Given the description of an element on the screen output the (x, y) to click on. 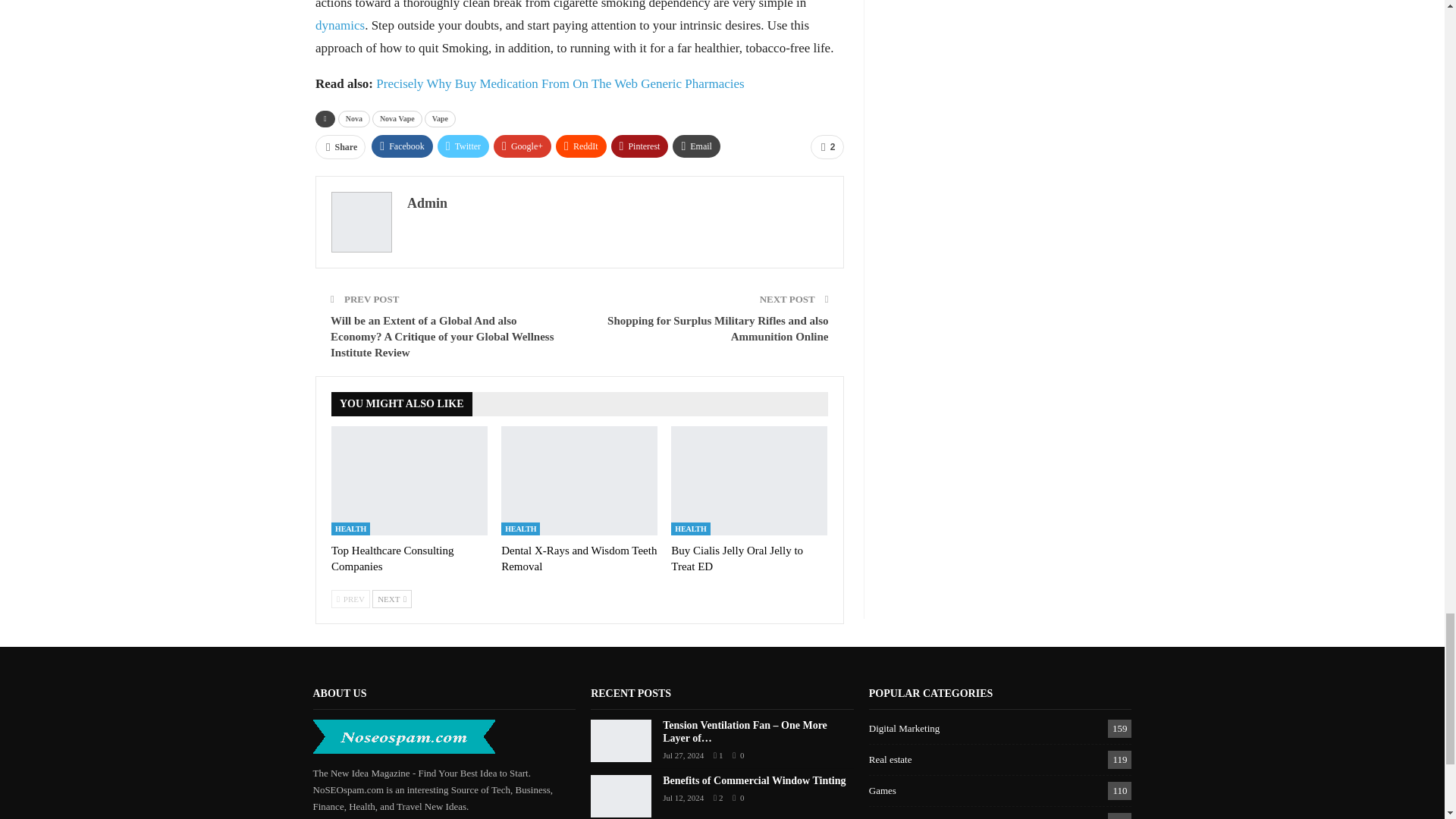
Dental X-Rays and Wisdom Teeth Removal (578, 558)
Buy Cialis Jelly Oral Jelly to Treat ED (737, 558)
Buy Cialis Jelly Oral Jelly to Treat ED (749, 480)
Top Healthcare Consulting Companies (409, 480)
Top Healthcare Consulting Companies (391, 558)
Dental X-Rays and Wisdom Teeth Removal (579, 480)
